Given the description of an element on the screen output the (x, y) to click on. 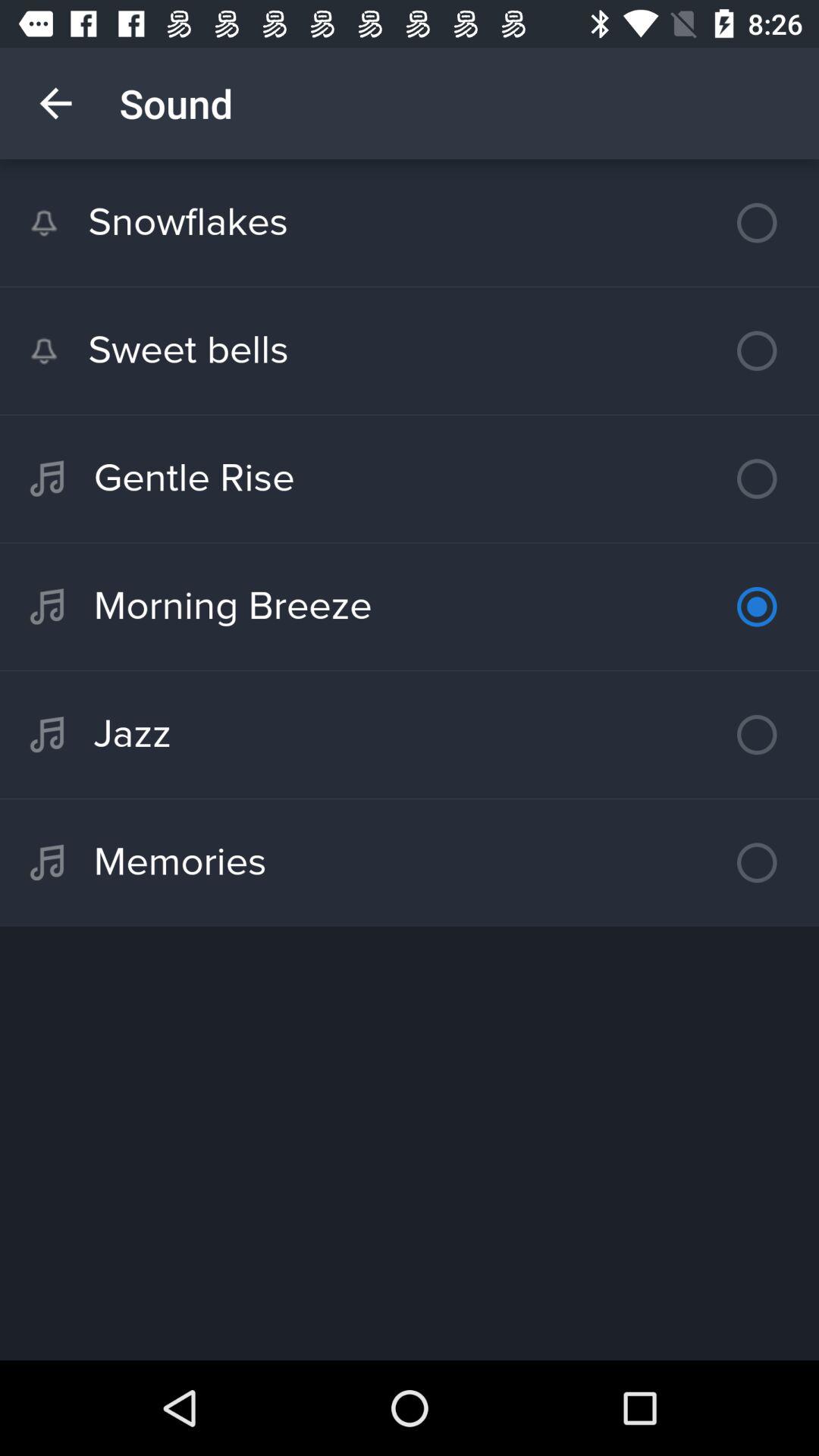
tap the morning breeze (409, 606)
